Given the description of an element on the screen output the (x, y) to click on. 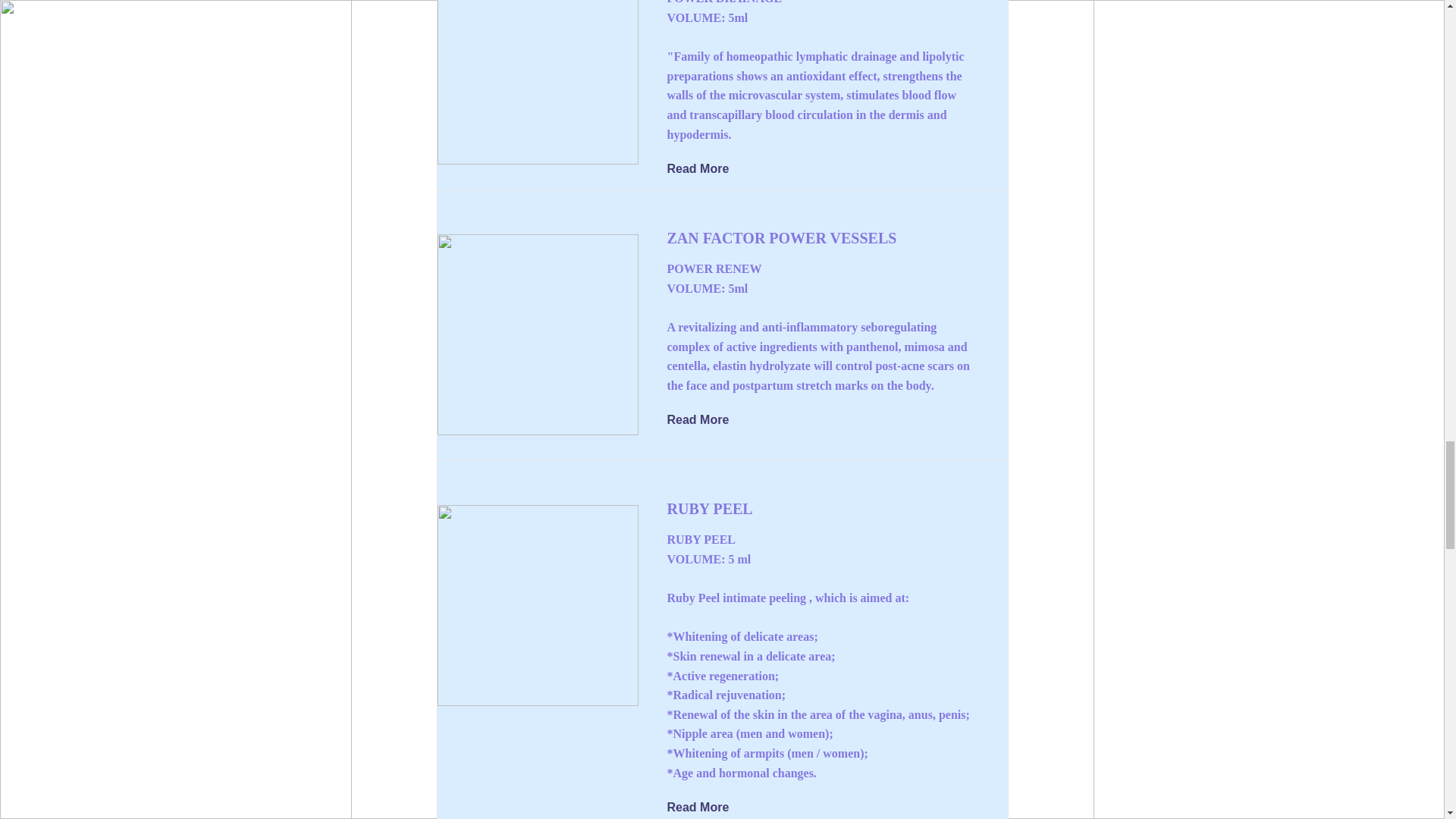
Read More (707, 169)
POWER VESSELS.png (536, 334)
Read More (707, 807)
RUBY PEEL.png (536, 605)
Read More (707, 420)
POWER DRAINAGE.webp (536, 82)
